Given the description of an element on the screen output the (x, y) to click on. 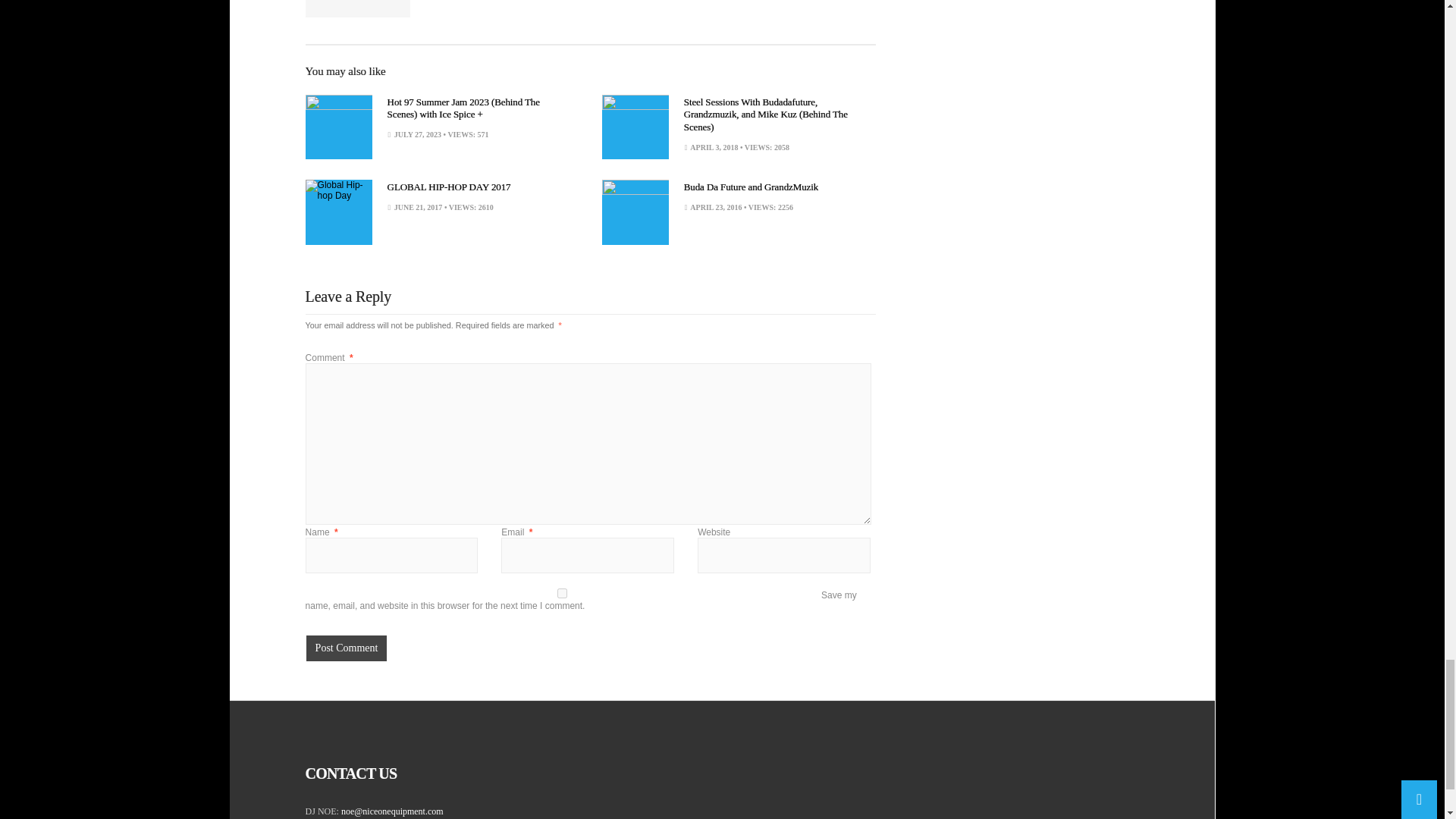
Post Comment (346, 647)
yes (561, 593)
